Given the description of an element on the screen output the (x, y) to click on. 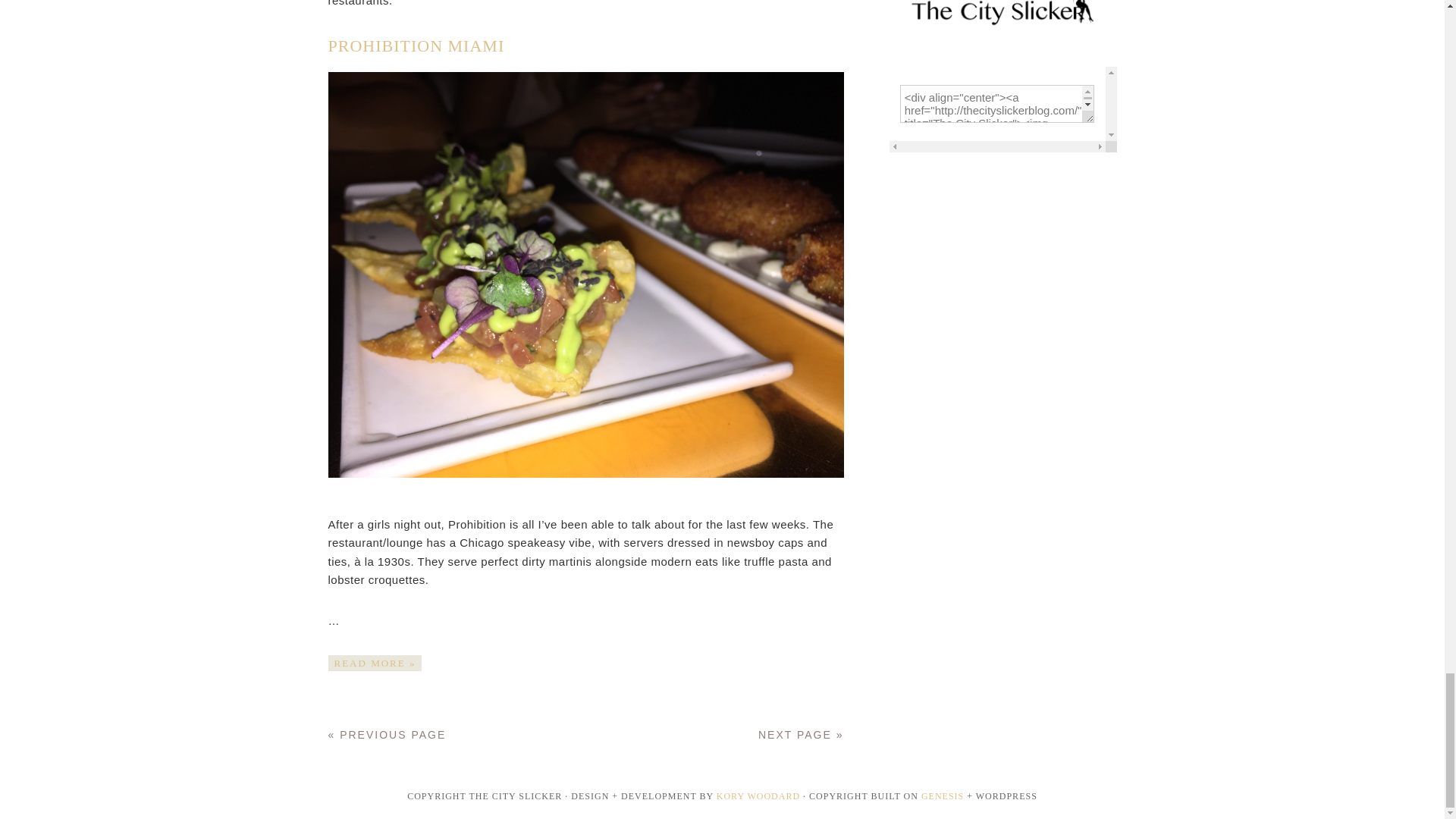
The City Slicker (1003, 22)
PROHIBITION MIAMI (415, 45)
